Given the description of an element on the screen output the (x, y) to click on. 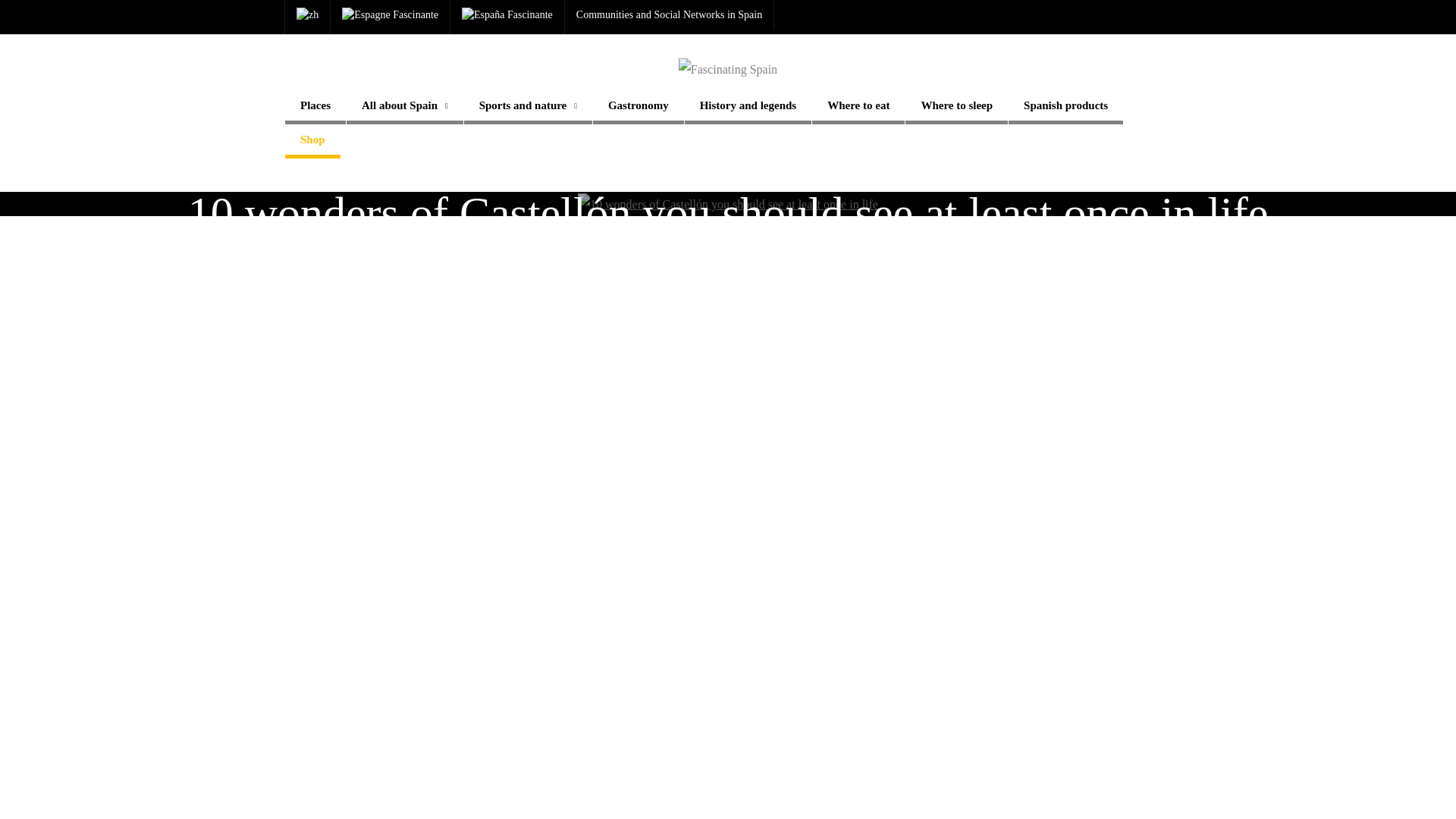
Where to eat (858, 107)
Shop (312, 141)
Gastronomy (638, 107)
Sports and nature (528, 107)
Places (315, 107)
Communities and Social Networks in Spain (668, 15)
All about Spain (404, 107)
Spanish products (1065, 107)
Fascinating Spain -  (727, 69)
Espagne Fascinante (390, 14)
History and legends (748, 107)
Where to sleep (956, 107)
